Given the description of an element on the screen output the (x, y) to click on. 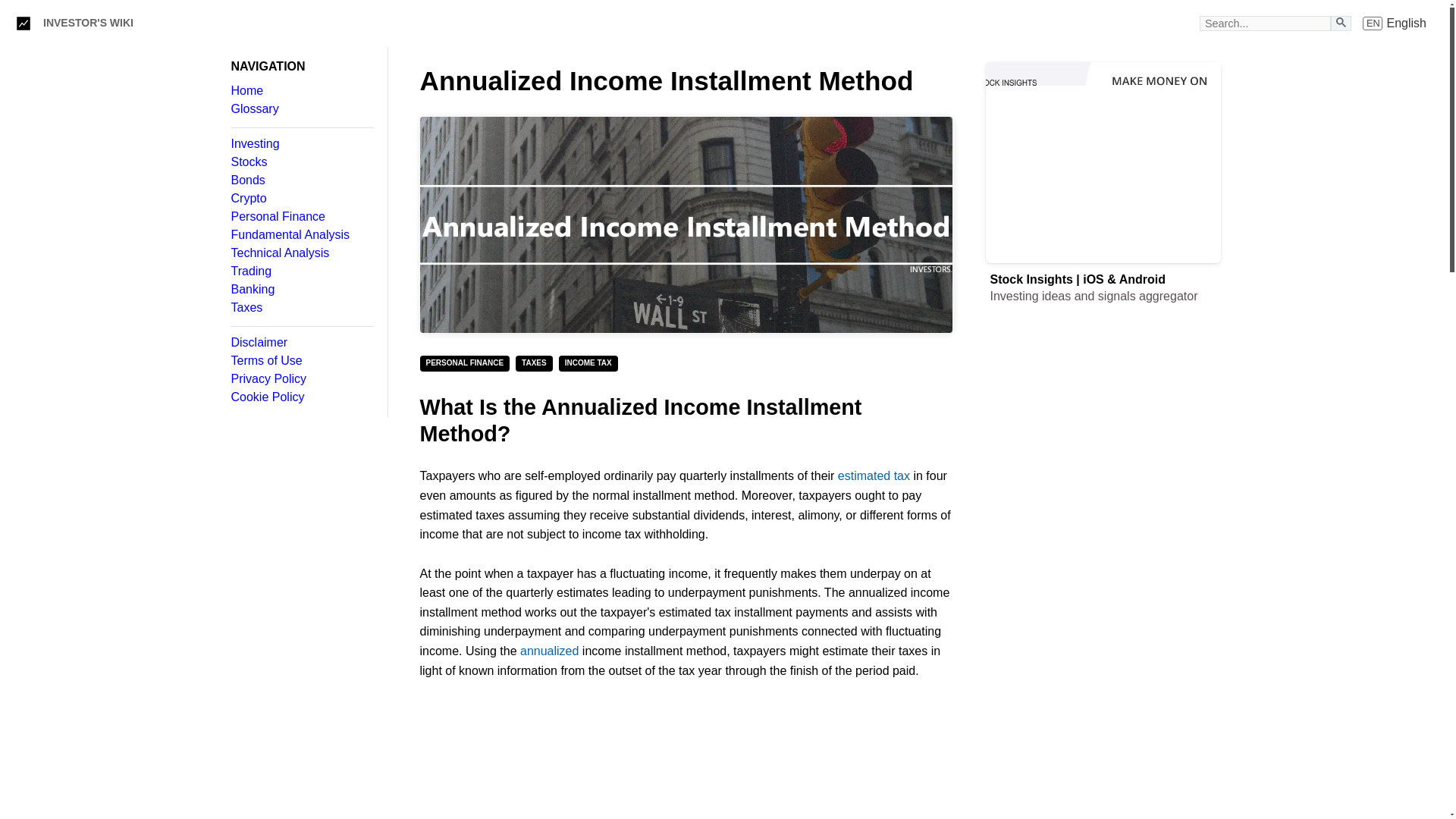
Advertisement (1103, 636)
Investing (301, 143)
Search (1340, 22)
Fundamental Analysis (301, 234)
Annualized Income Installment Method (686, 224)
Search (1340, 23)
Technical Analysis (301, 253)
Advertisement (1103, 784)
Personal Finance (301, 216)
Bonds (301, 180)
